Given the description of an element on the screen output the (x, y) to click on. 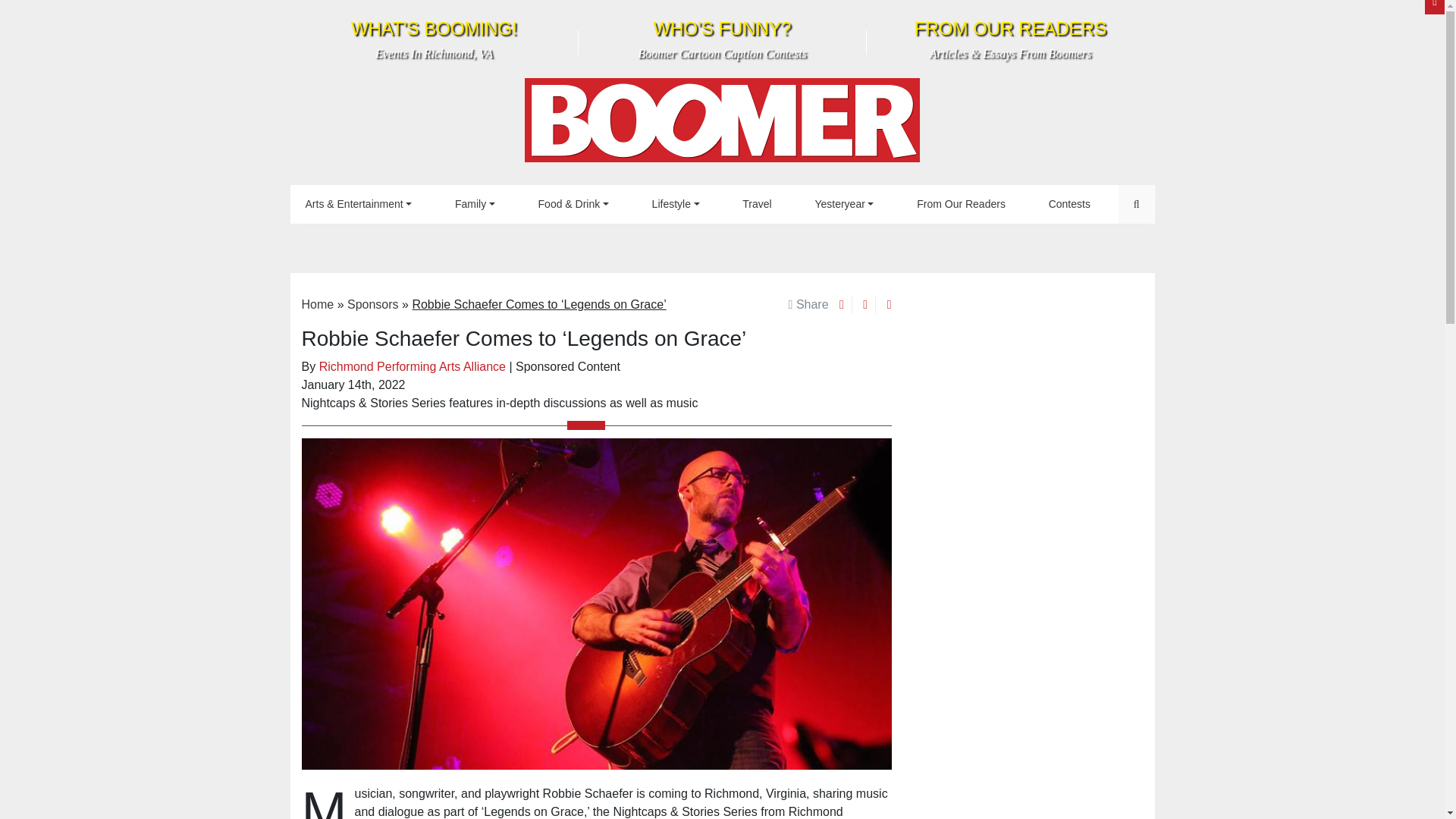
Lifestyle (675, 204)
Travel (756, 204)
Family (434, 39)
Yesteryear (475, 204)
From Our Readers (843, 204)
Contests (960, 204)
BOOMER Magazine (1069, 204)
Family (722, 124)
